Given the description of an element on the screen output the (x, y) to click on. 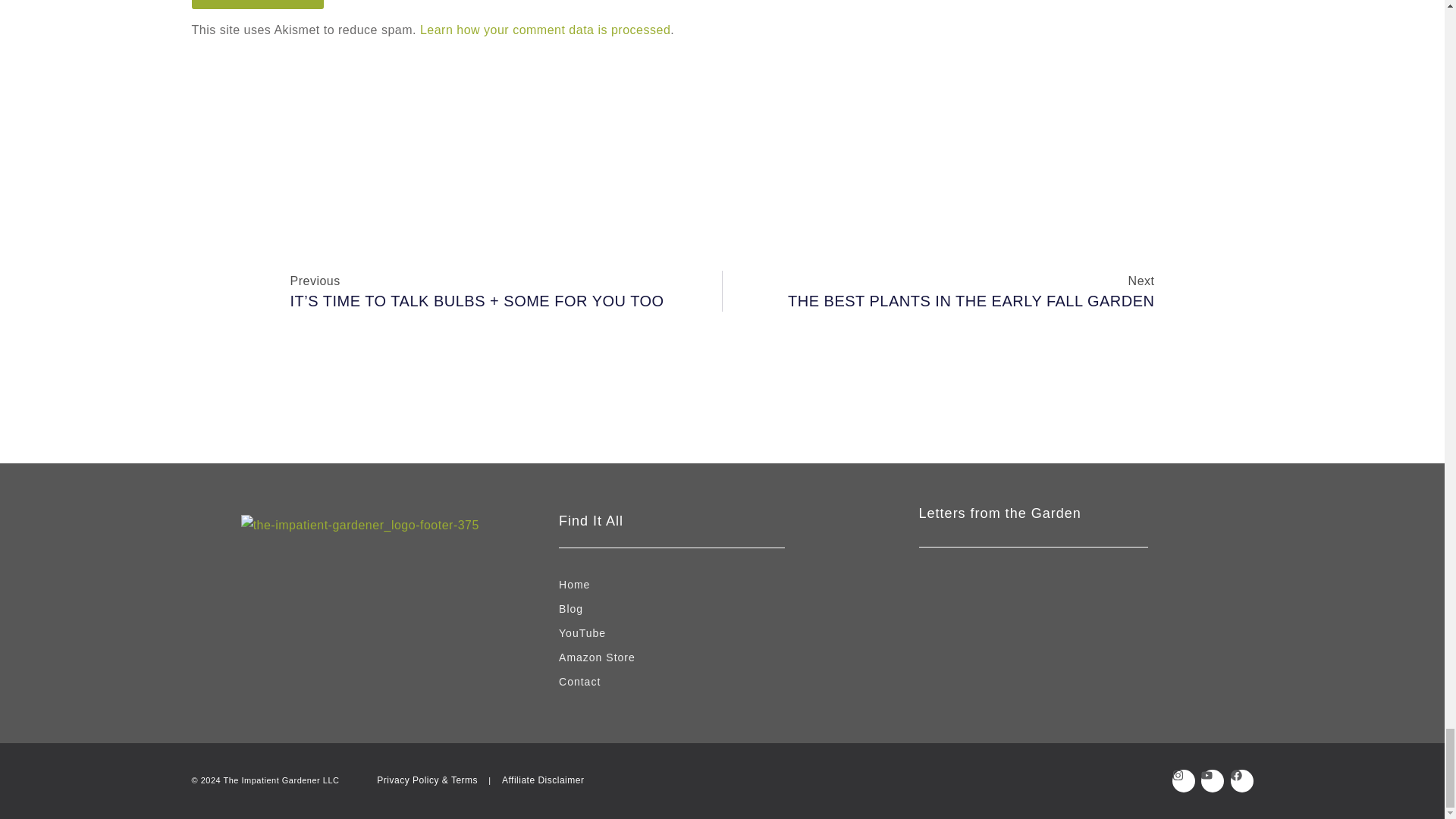
Post Comment (256, 4)
